Given the description of an element on the screen output the (x, y) to click on. 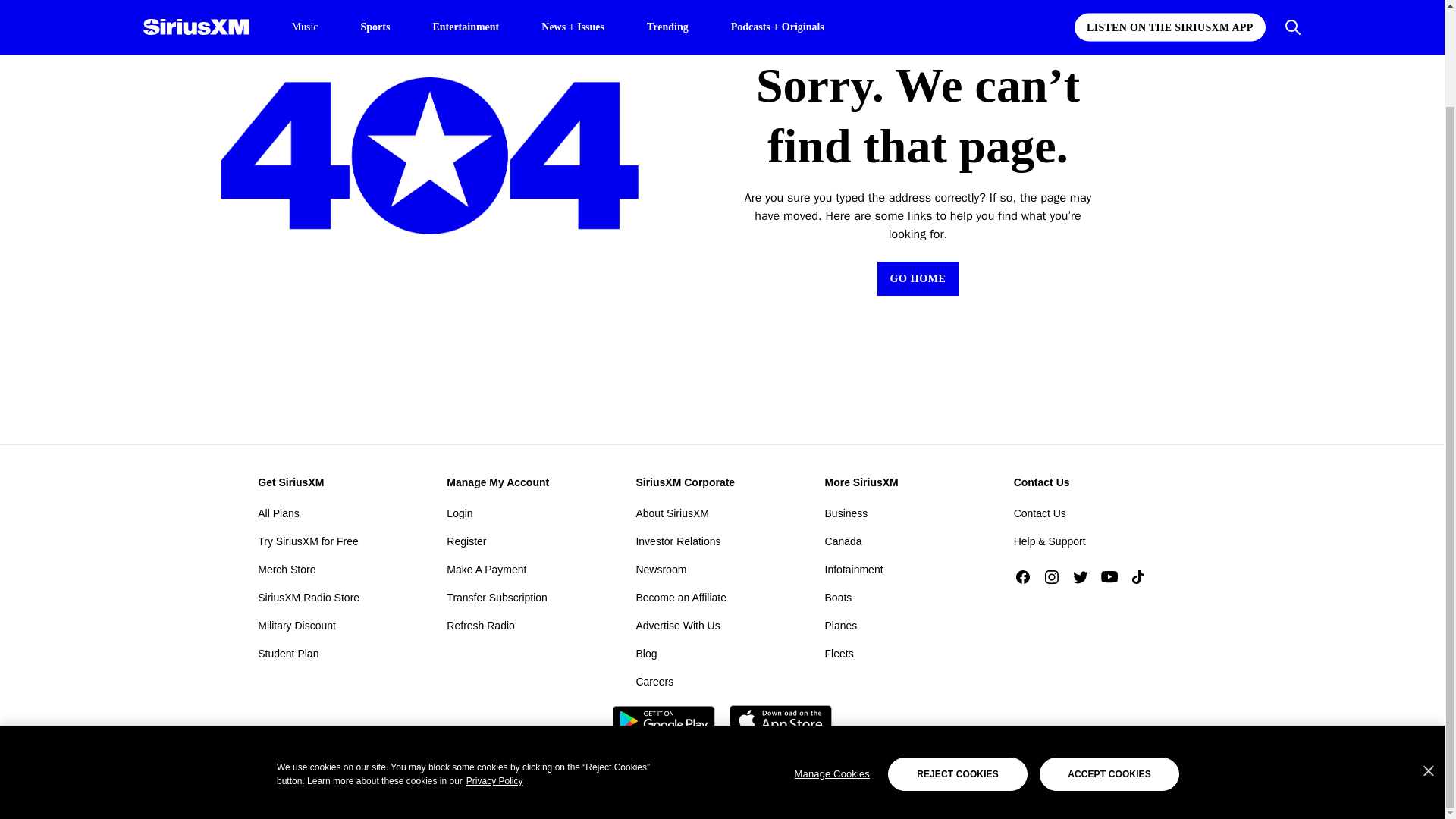
Student Plan (287, 653)
All Plans (277, 513)
Military Discount (296, 625)
Investor Relations (677, 541)
Newsroom (659, 569)
SiriusXM Radio Store (308, 597)
Login (458, 513)
Try SiriusXM for Free (307, 541)
Become an Affiliate (680, 597)
Refresh Radio (480, 625)
About SiriusXM (670, 513)
Register (466, 541)
Make A Payment (485, 569)
Merch Store (286, 569)
GO HOME (917, 278)
